Given the description of an element on the screen output the (x, y) to click on. 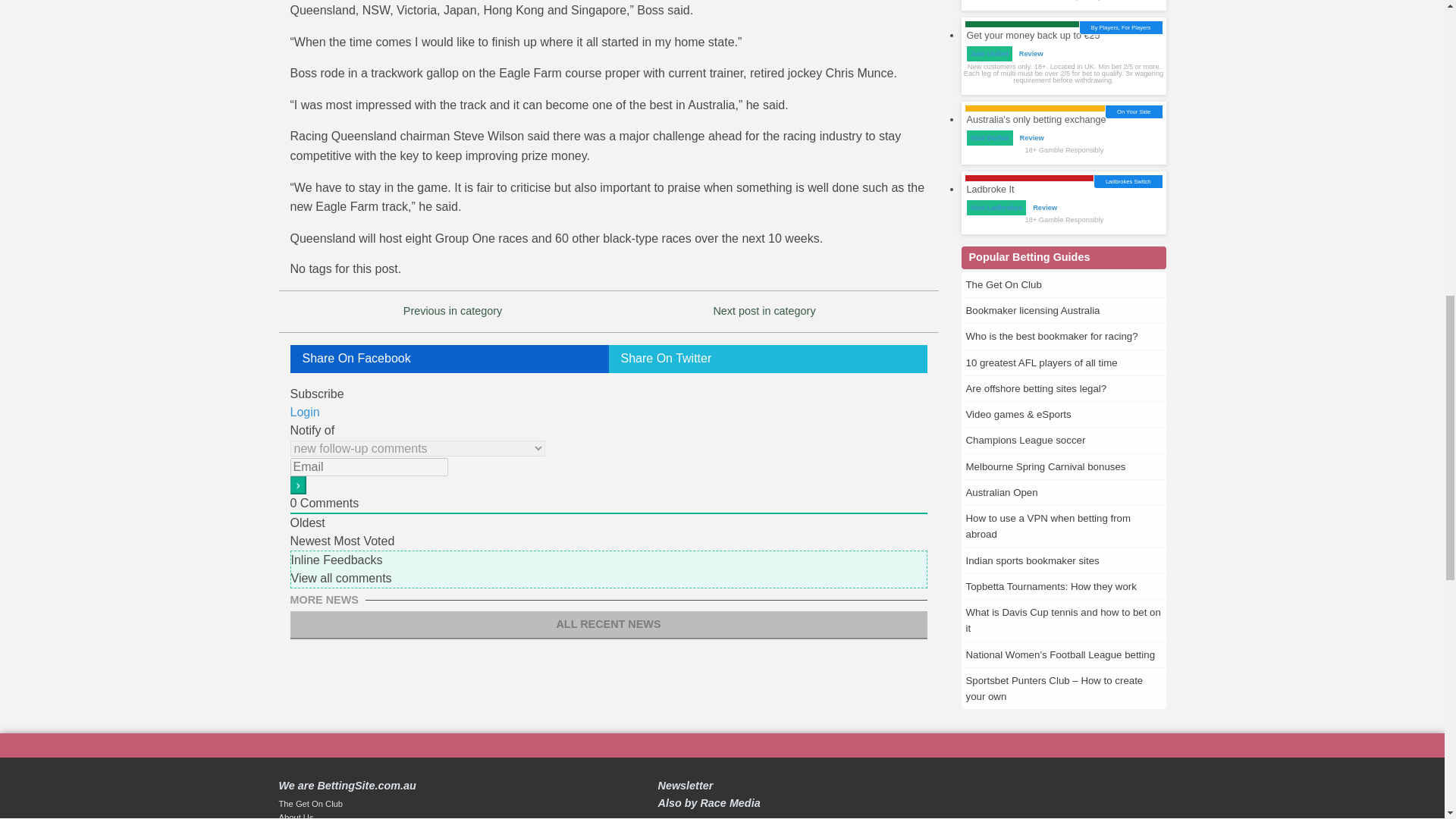
Login (303, 411)
Next post in category (764, 310)
Share On Facebook (448, 358)
Previous in category (452, 310)
Share On Twitter (767, 358)
